Given the description of an element on the screen output the (x, y) to click on. 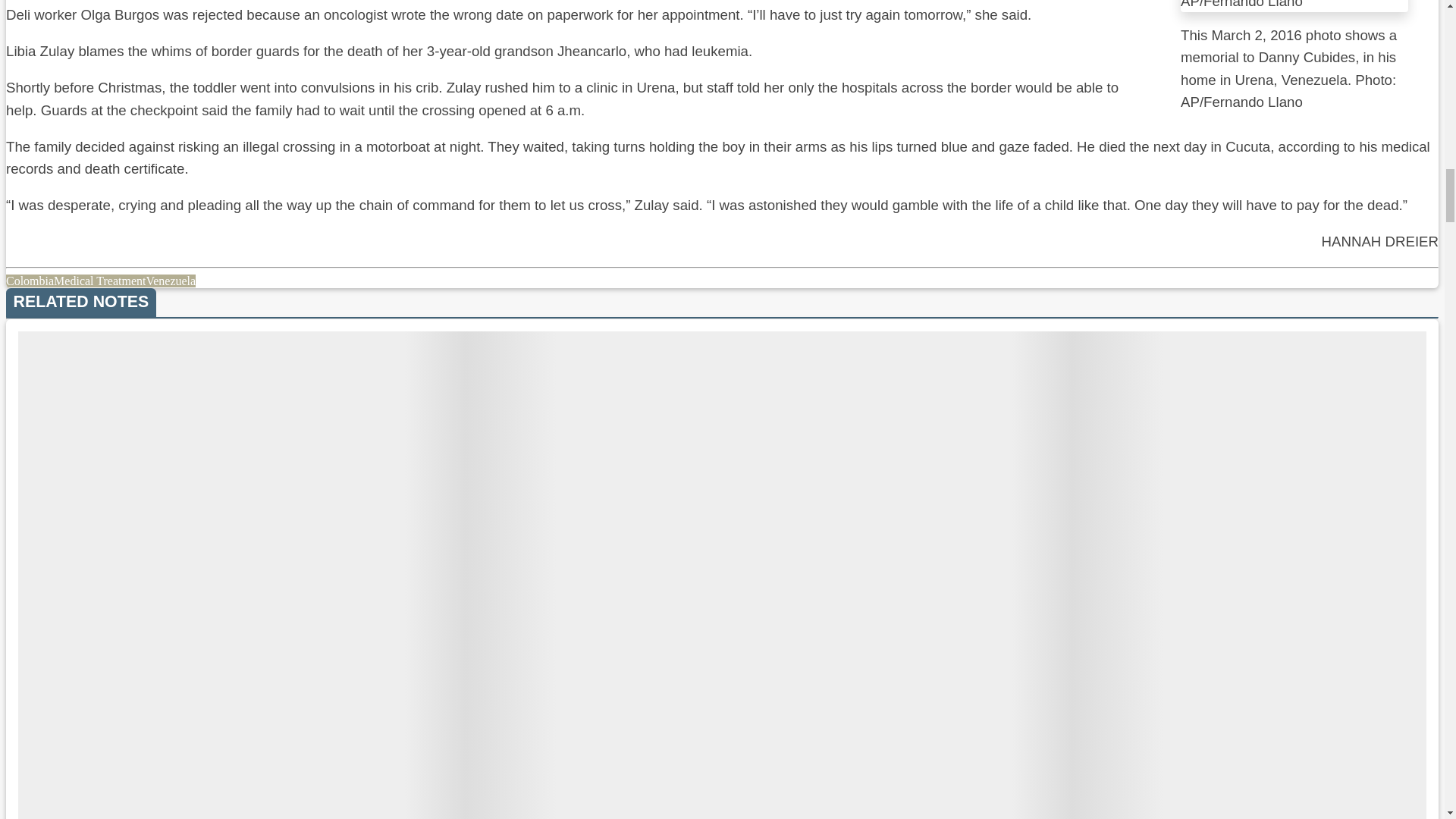
Colombia (29, 280)
Venezuela (170, 280)
Medical Treatment (99, 280)
